Given the description of an element on the screen output the (x, y) to click on. 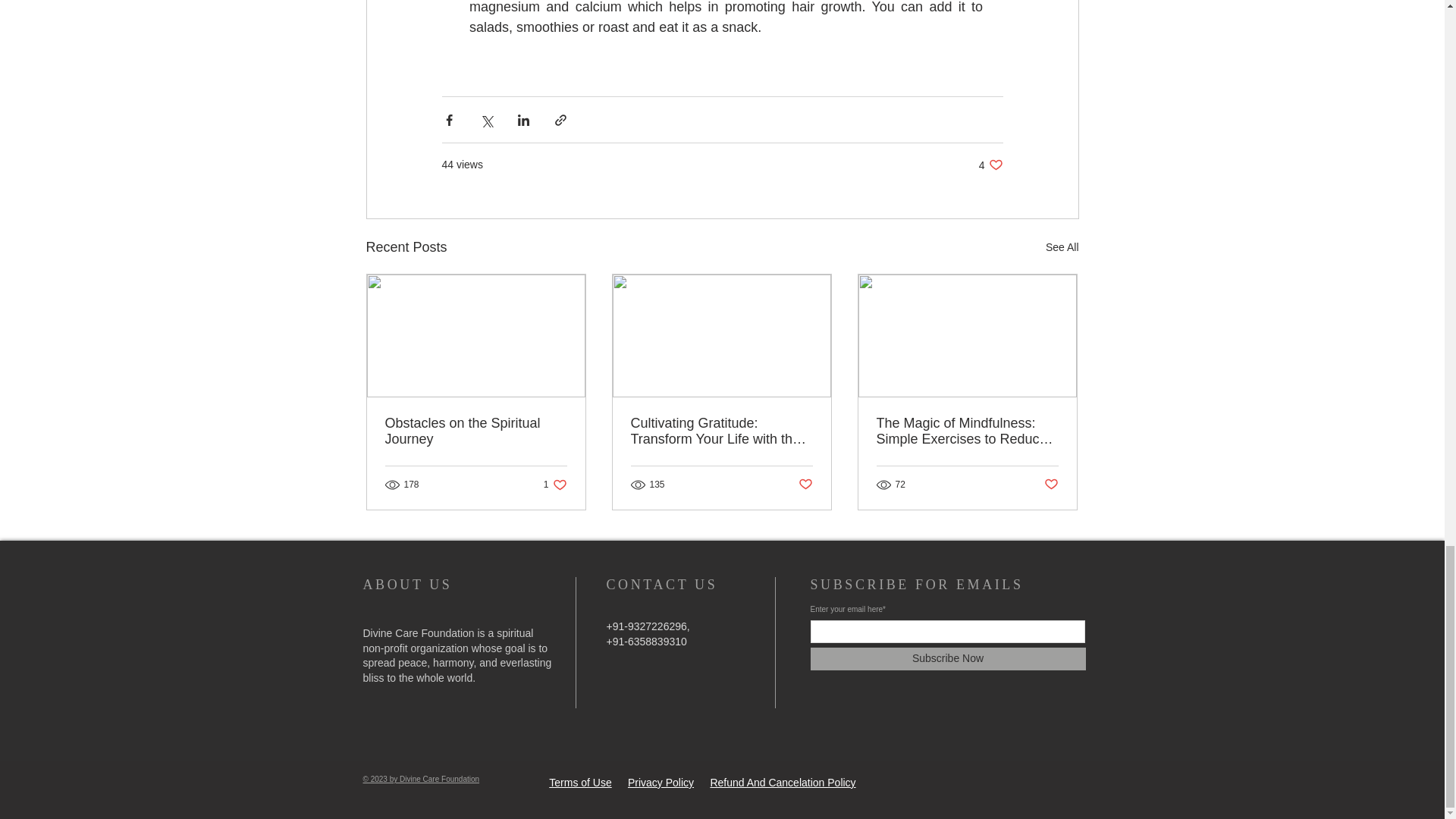
Subscribe Now (946, 658)
Post not marked as liked (804, 483)
Terms of Use (579, 782)
Post not marked as liked (1050, 483)
Refund And Cancelation Policy (990, 164)
Privacy Policy (555, 484)
